Given the description of an element on the screen output the (x, y) to click on. 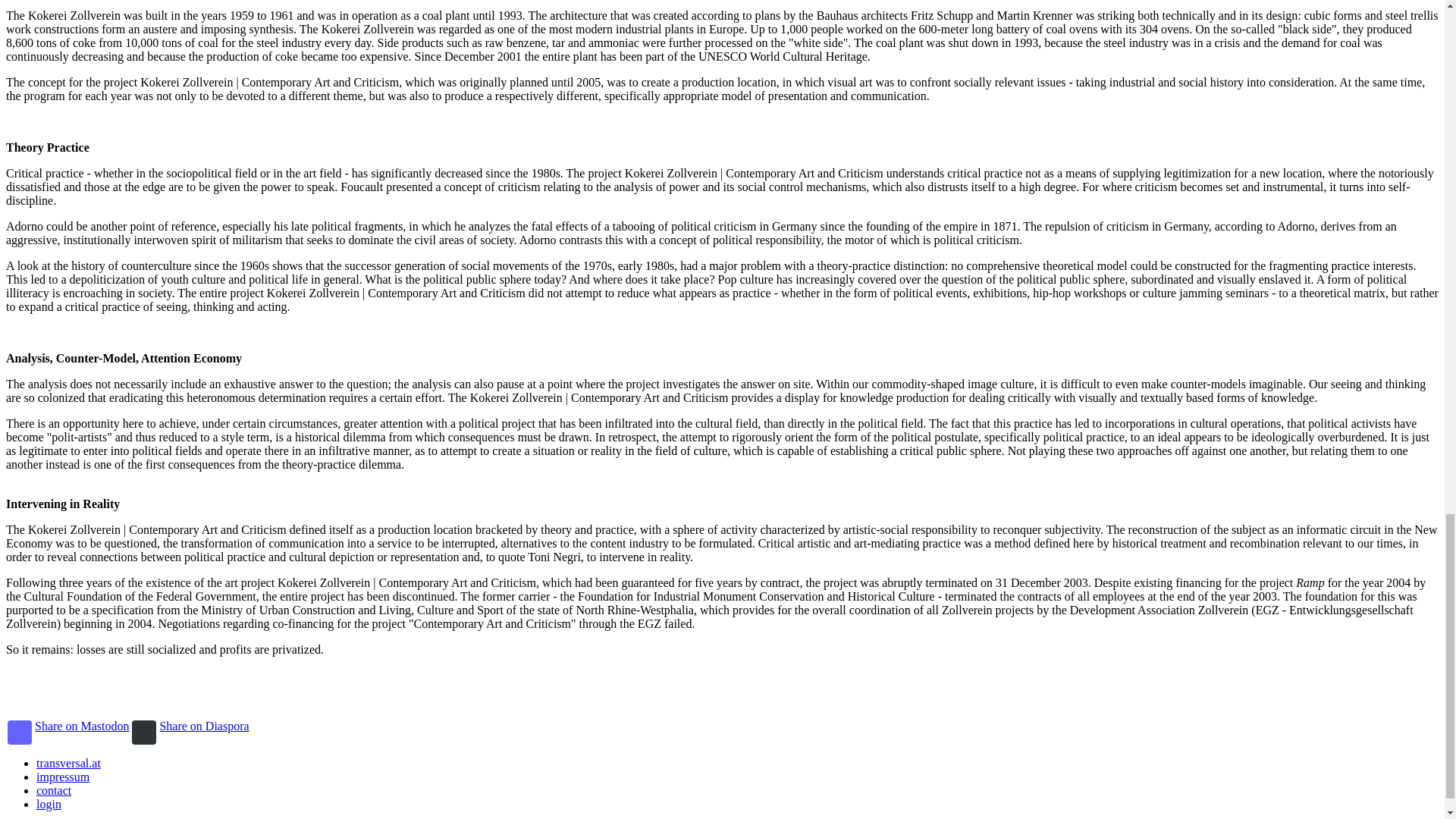
Share on Diaspora (190, 732)
login (48, 803)
contact (53, 789)
impressum (62, 776)
transversal.at (68, 762)
Share on Mastodon (68, 732)
